Given the description of an element on the screen output the (x, y) to click on. 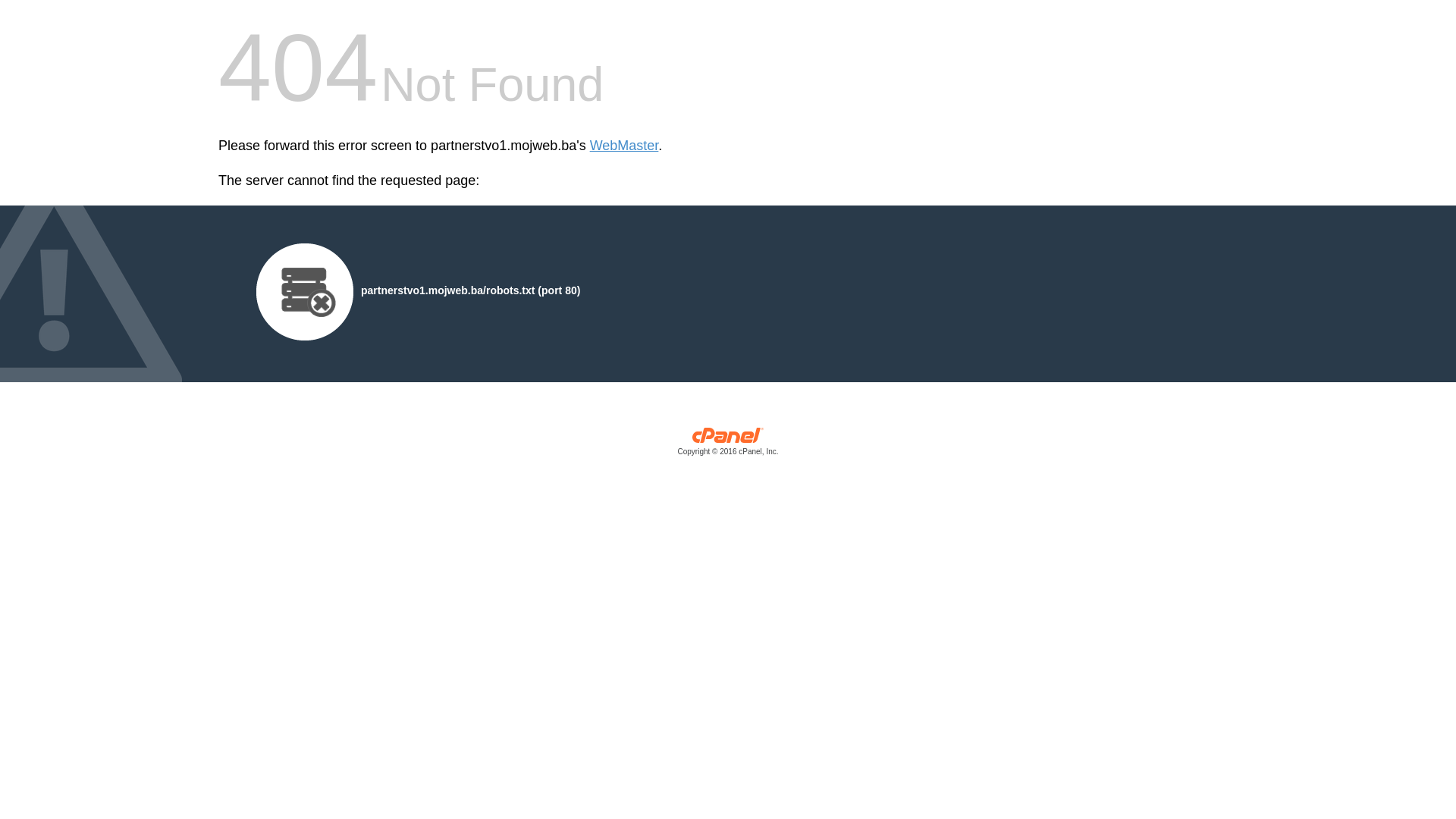
WebMaster Element type: text (623, 145)
